Given the description of an element on the screen output the (x, y) to click on. 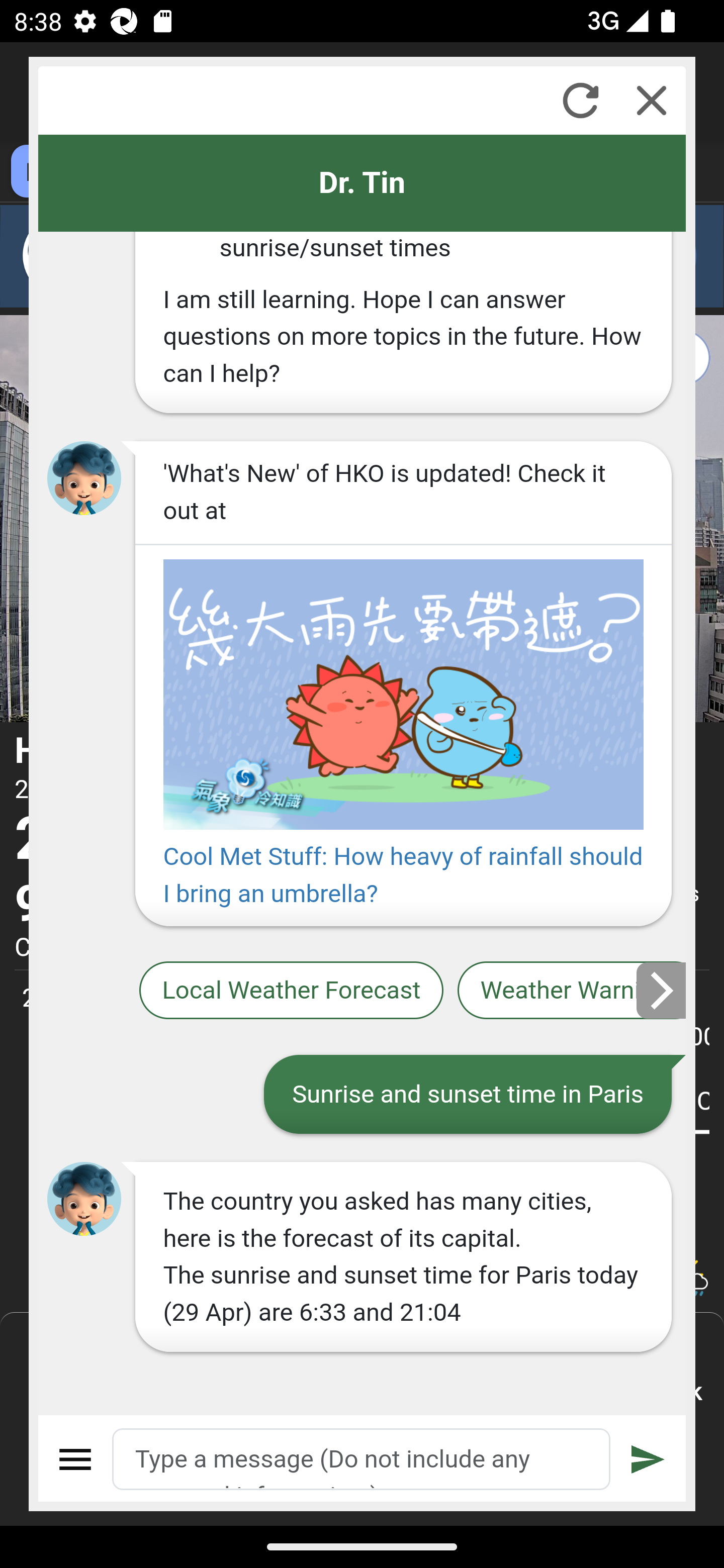
Refresh (580, 100)
Close (651, 100)
Local Weather Forecast (291, 990)
Weather Warnings (571, 990)
Next slide (661, 990)
Menu (75, 1458)
Submit (648, 1458)
